Given the description of an element on the screen output the (x, y) to click on. 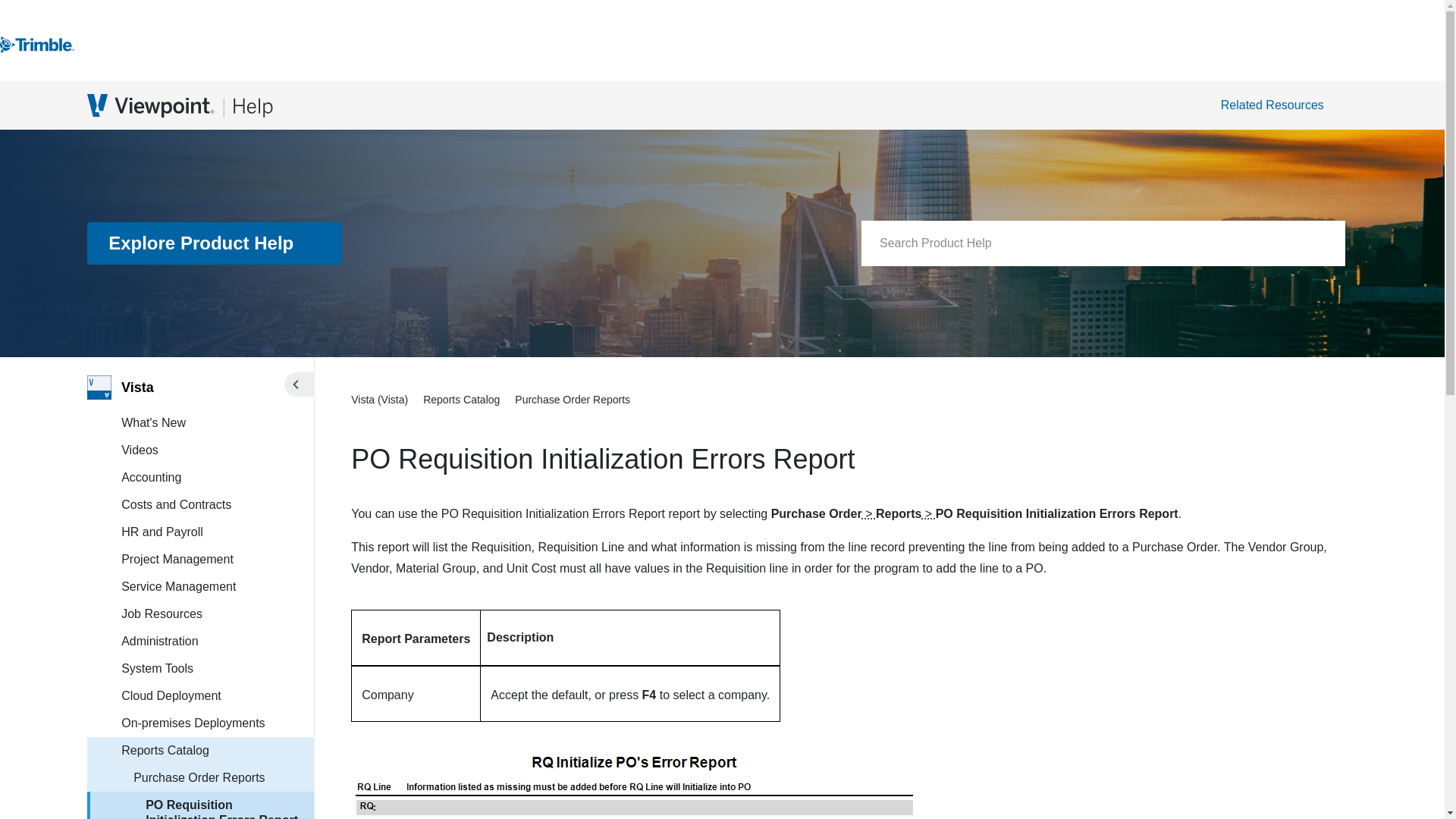
Videos (217, 450)
Explore Product Help (214, 242)
Related Resources (1279, 104)
What's New (217, 422)
